Given the description of an element on the screen output the (x, y) to click on. 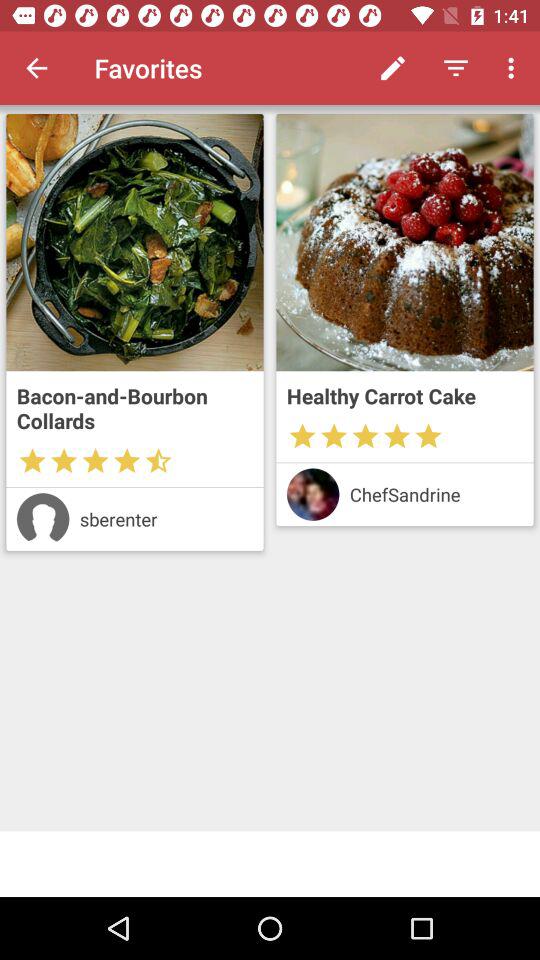
choose the icon to the left of favorites app (36, 68)
